Given the description of an element on the screen output the (x, y) to click on. 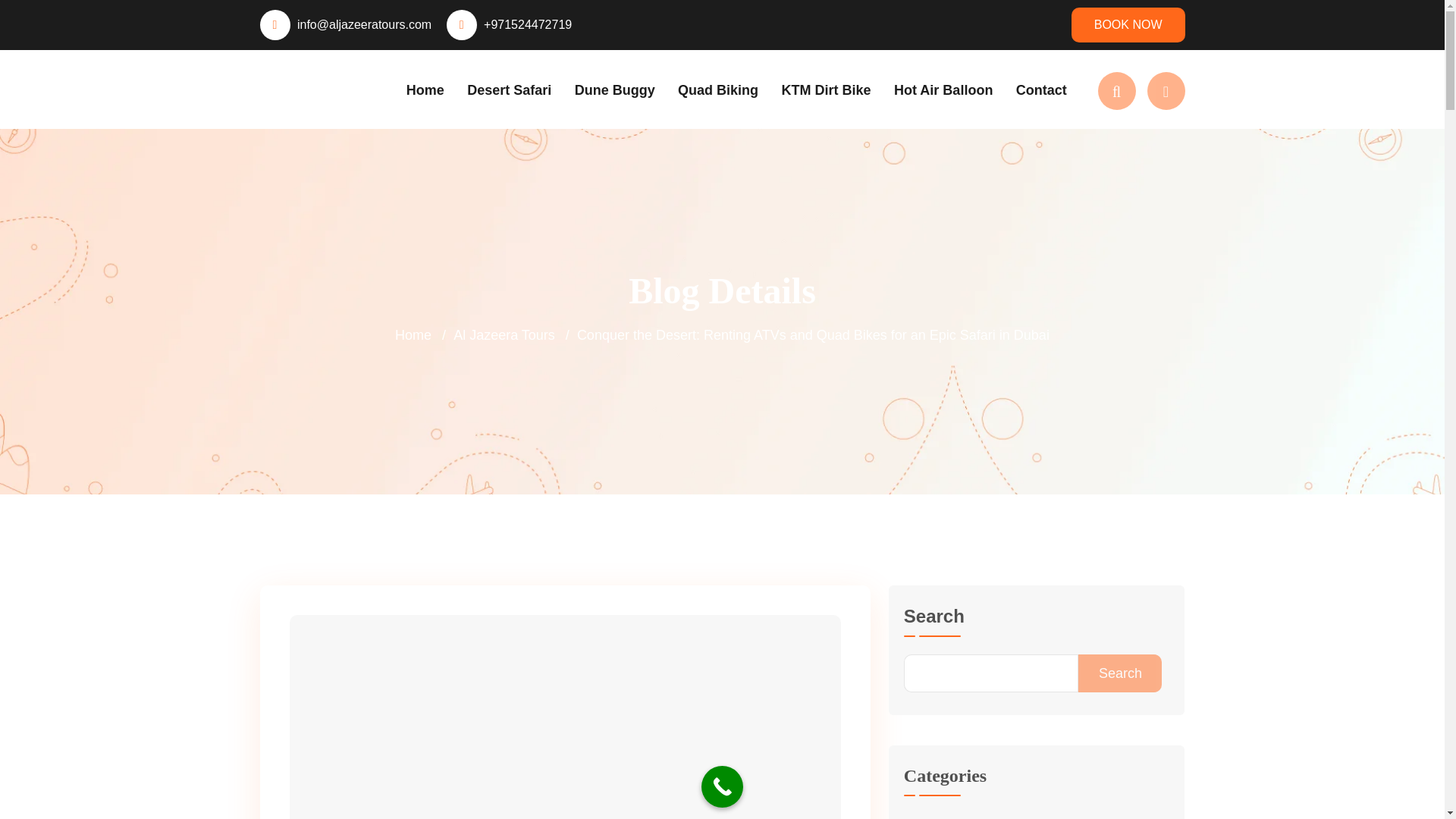
Contact (1041, 89)
Quad Biking (718, 89)
KTM Dirt Bike (825, 89)
Desert Safari (509, 89)
BOOK NOW (1128, 24)
Home (412, 335)
Hot Air Balloon (942, 89)
Dune Buggy (615, 89)
Home (425, 89)
